Given the description of an element on the screen output the (x, y) to click on. 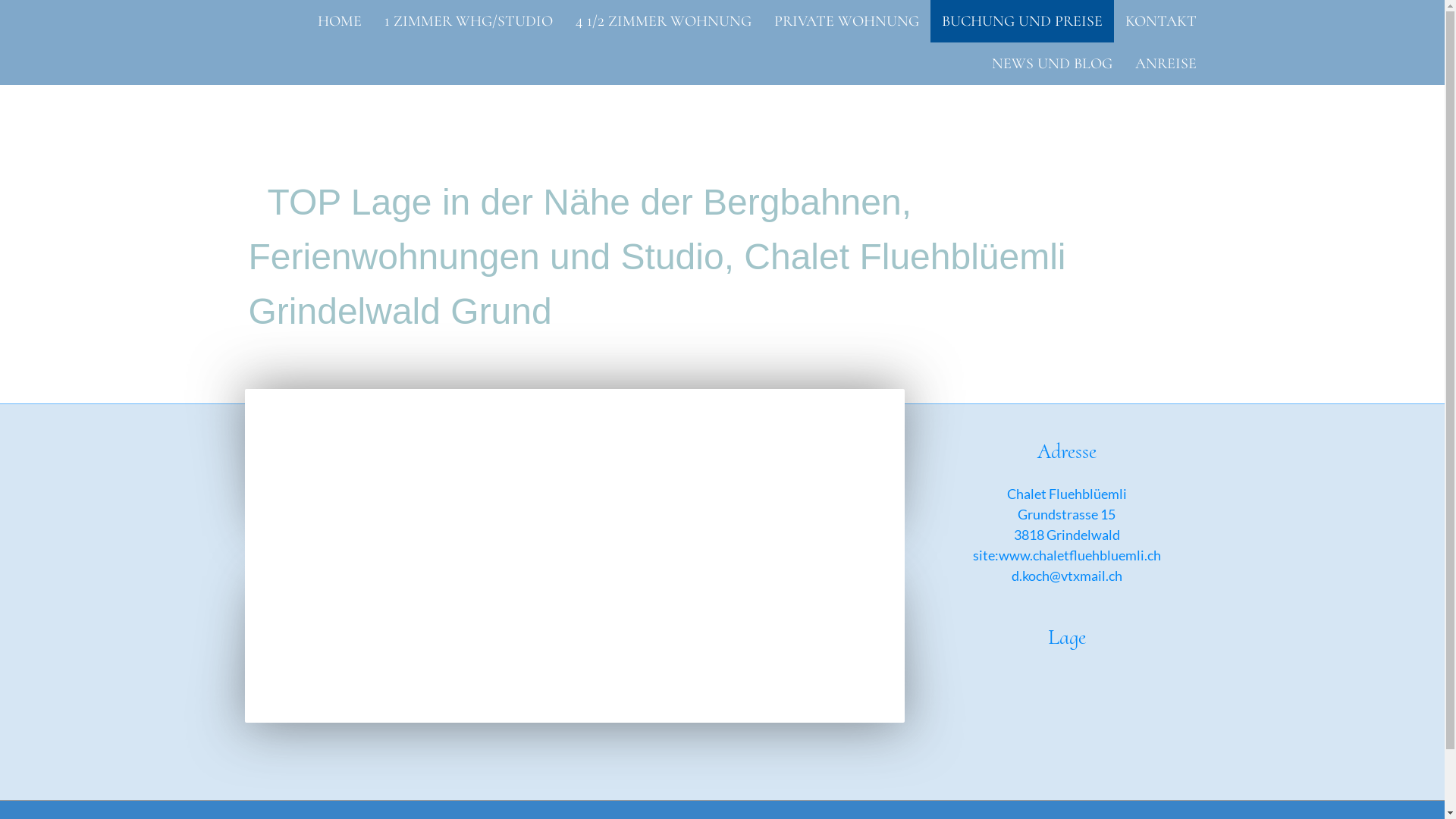
HOME Element type: text (339, 21)
1 ZIMMER WHG/STUDIO Element type: text (468, 21)
BUCHUNG UND PREISE Element type: text (1021, 21)
NEWS UND BLOG Element type: text (1051, 63)
KONTAKT Element type: text (1160, 21)
4 1/2 ZIMMER WOHNUNG Element type: text (663, 21)
ANREISE Element type: text (1165, 63)
PRIVATE WOHNUNG Element type: text (846, 21)
